Given the description of an element on the screen output the (x, y) to click on. 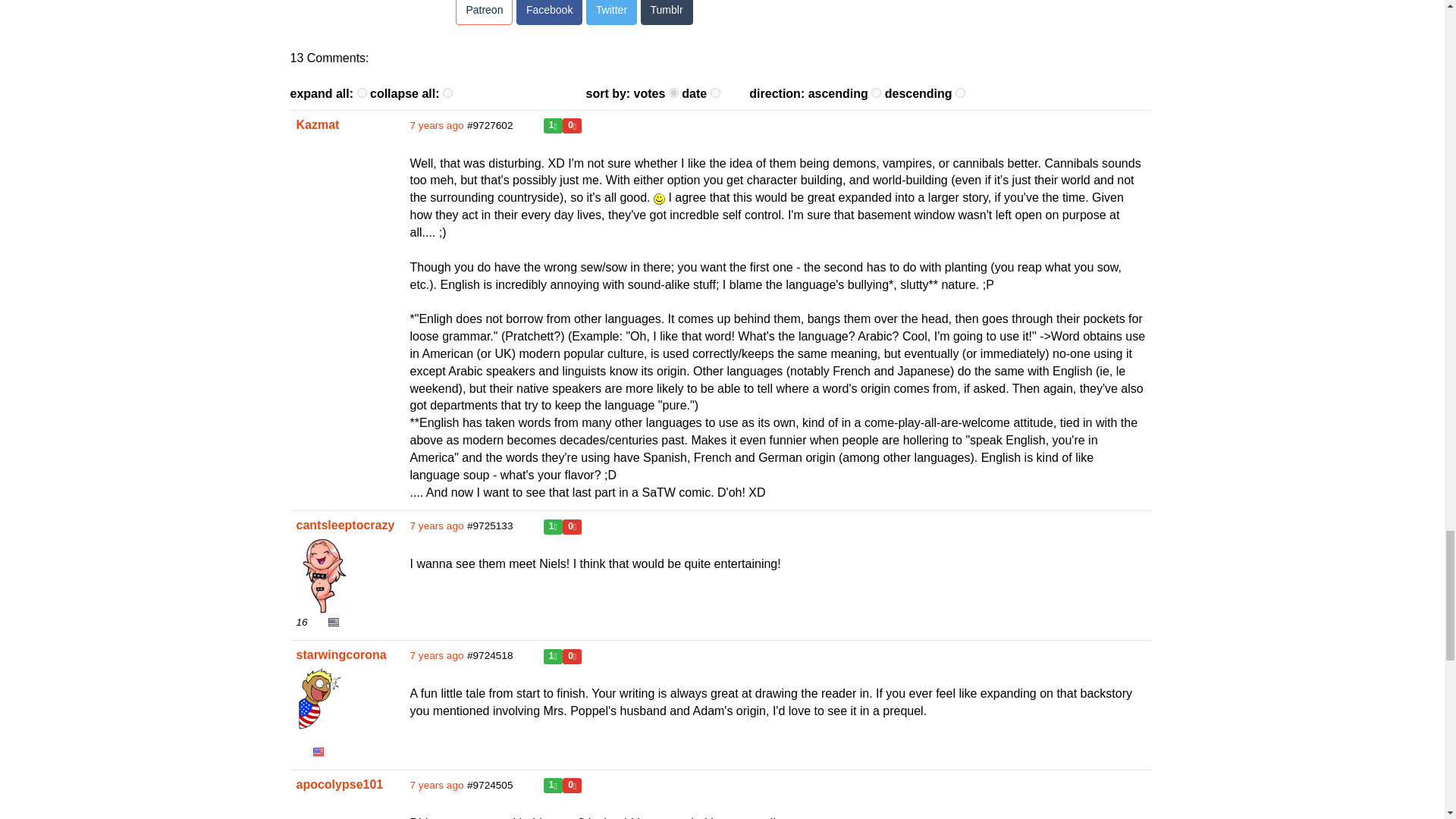
DESC (960, 92)
collapse (447, 92)
ASC (875, 92)
date (715, 92)
expand (361, 92)
Patreon (483, 12)
Facebook (549, 12)
